Given the description of an element on the screen output the (x, y) to click on. 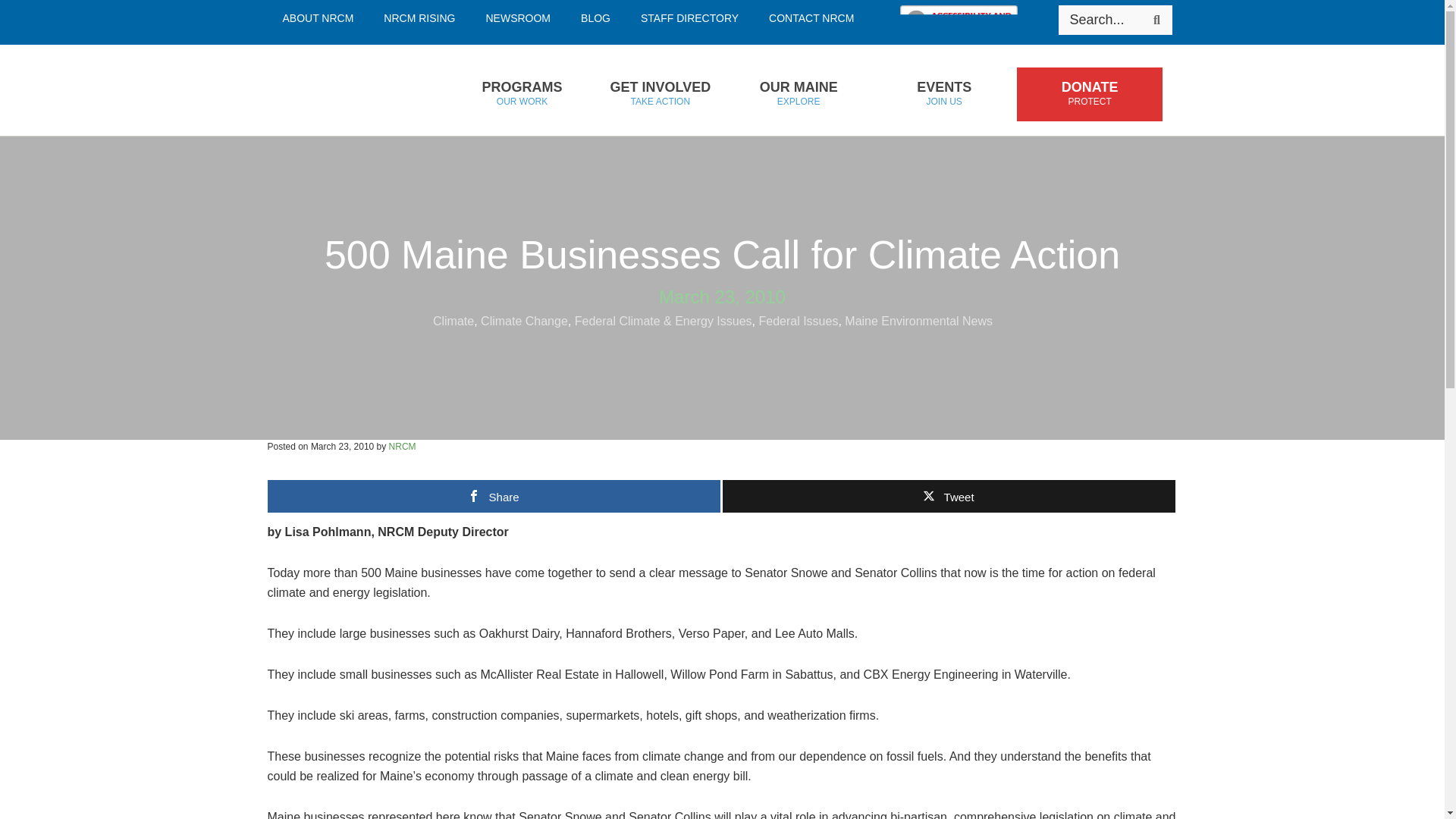
NEWSROOM (518, 18)
Skip to primary navigation (521, 94)
Search (690, 18)
CONTACT NRCM (1156, 20)
BLOG (811, 18)
Search (596, 18)
Natural Resources Council of Maine (1156, 19)
NRCM RISING (347, 90)
ABOUT NRCM (419, 18)
